Given the description of an element on the screen output the (x, y) to click on. 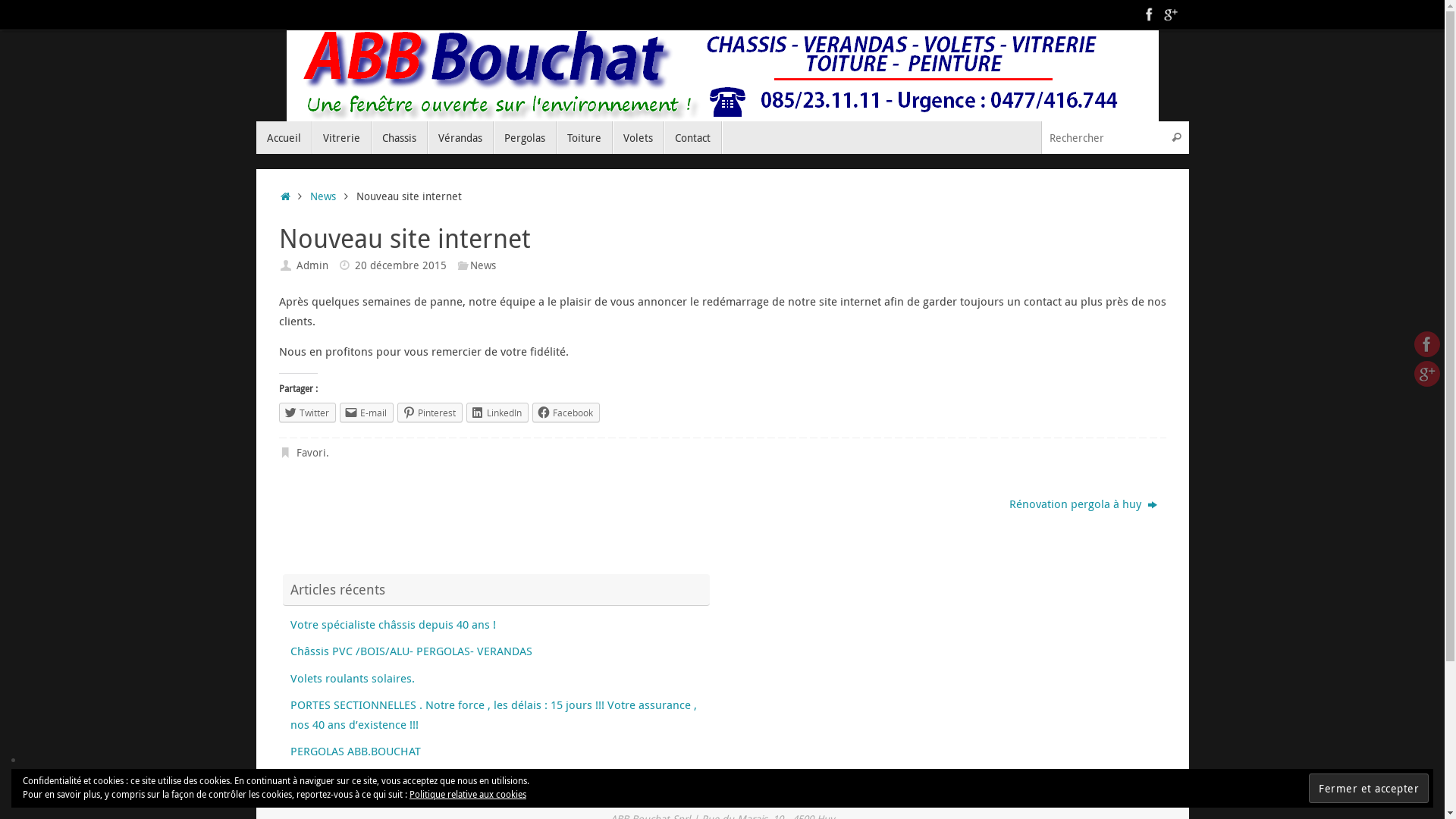
 Ajouter le permalien aux favoris Element type: hover (286, 452)
Chassis Element type: text (399, 137)
Date Element type: hover (344, 264)
Favori Element type: text (311, 452)
Twitter Element type: text (307, 412)
Facebook Element type: hover (1427, 344)
Pinterest Element type: text (429, 412)
Facebook Element type: hover (1149, 14)
Volets Element type: text (638, 137)
LinkedIn Element type: text (496, 412)
Contact Element type: text (692, 137)
Volets roulants solaires. Element type: text (351, 677)
Google + Element type: hover (1170, 14)
Toiture Element type: text (584, 137)
Admin Element type: text (312, 264)
Rechercher Element type: text (1176, 137)
Facebook Element type: text (565, 412)
Vitrerie Element type: text (341, 137)
PERGOLAS ABB.BOUCHAT Element type: text (354, 750)
Auteur/autrice  Element type: hover (286, 264)
Accueil Element type: text (284, 137)
News Element type: text (322, 196)
Fermer et accepter Element type: text (1368, 788)
Pergolas Element type: text (523, 137)
News Element type: text (482, 264)
Passer au contenu Element type: text (254, 144)
Politique relative aux cookies Element type: text (467, 793)
Google + Element type: hover (1427, 373)
Accueil Element type: text (286, 196)
E-mail Element type: text (366, 412)
